Given the description of an element on the screen output the (x, y) to click on. 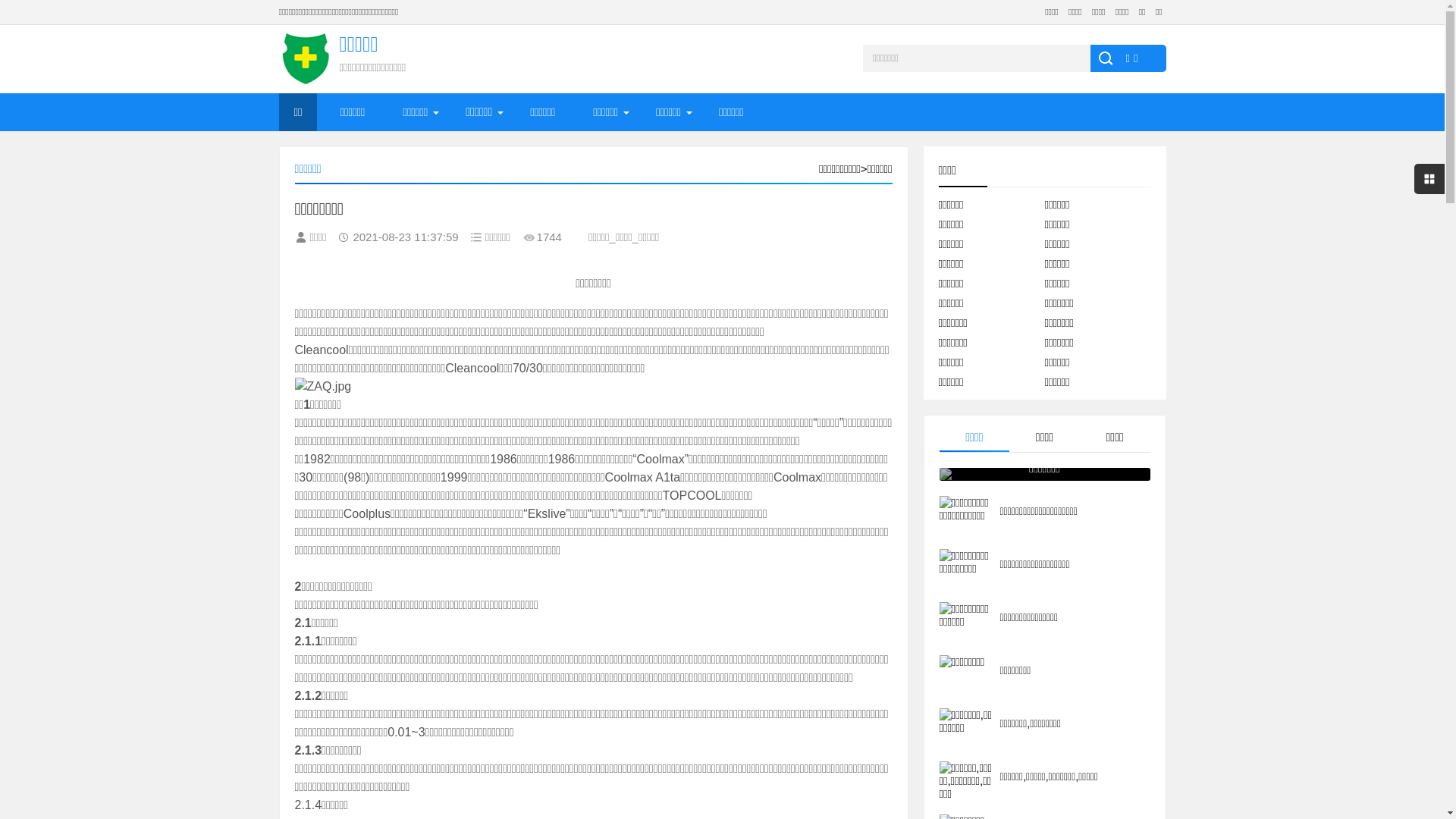
ZAQ.jpg Element type: hover (592, 386)
